Given the description of an element on the screen output the (x, y) to click on. 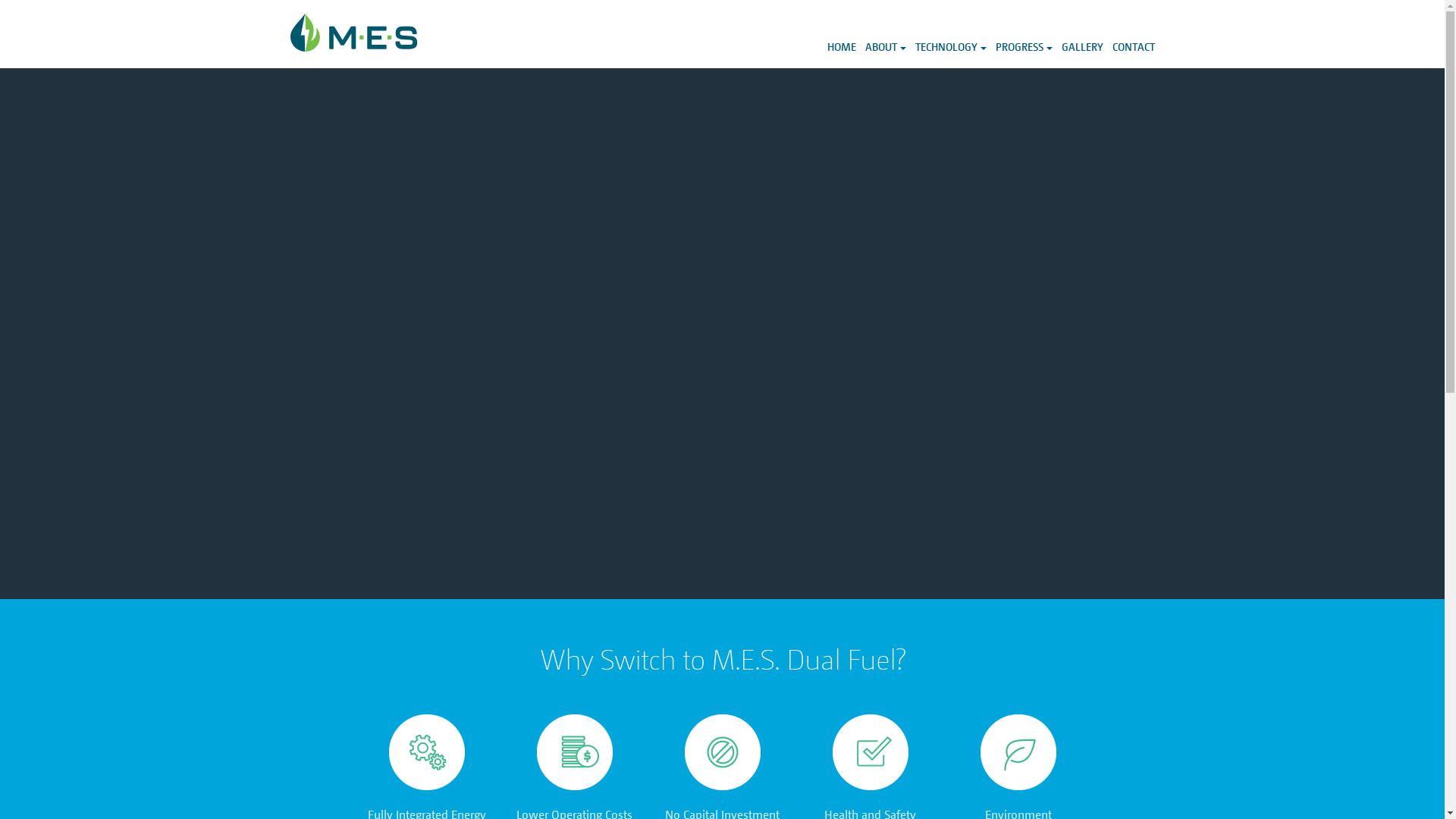
Mine Energy Solutions Element type: text (353, 32)
HOME Element type: text (840, 34)
ABOUT Element type: text (884, 34)
PROGRESS Element type: text (1023, 34)
GALLERY Element type: text (1082, 34)
CONTACT Element type: text (1130, 34)
TECHNOLOGY Element type: text (950, 34)
